Given the description of an element on the screen output the (x, y) to click on. 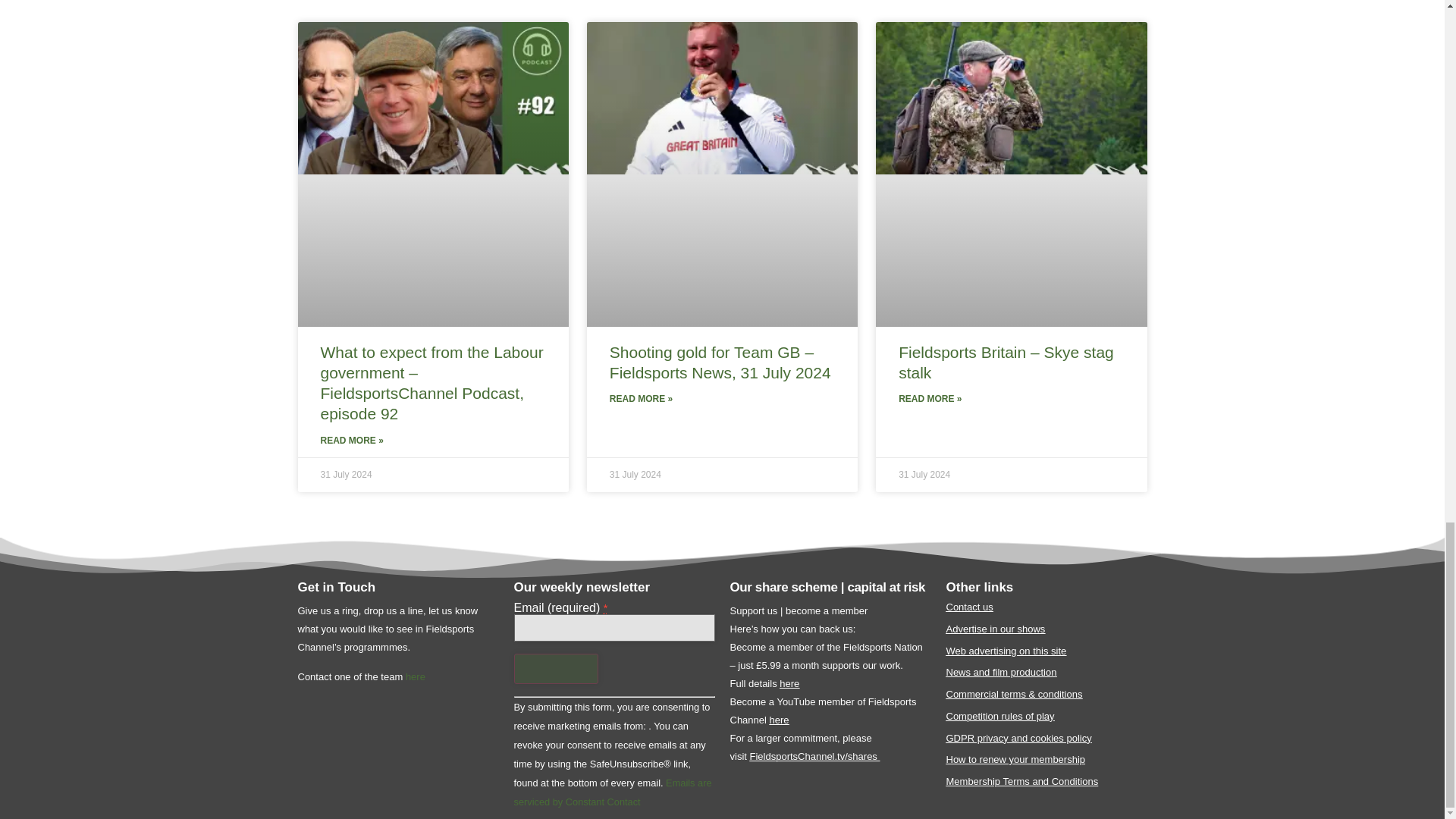
Sign up (555, 668)
